Given the description of an element on the screen output the (x, y) to click on. 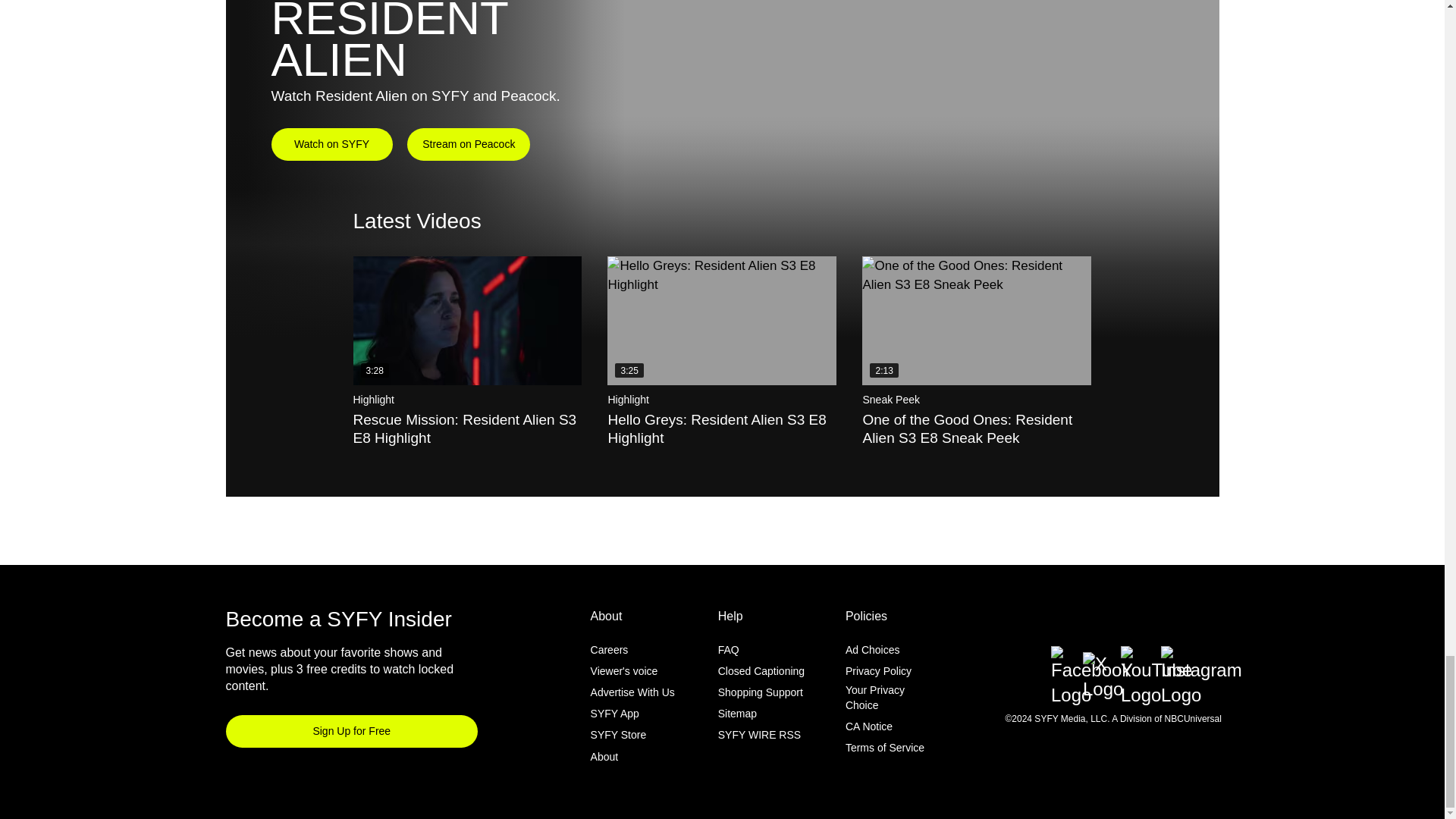
Advertise With Us (633, 692)
Rescue Mission: Resident Alien S3 E8 Highlight (467, 320)
Hello Greys: Resident Alien S3 E8 Highlight (721, 320)
One of the Good Ones: Resident Alien S3 E8 Sneak Peek (975, 320)
